Given the description of an element on the screen output the (x, y) to click on. 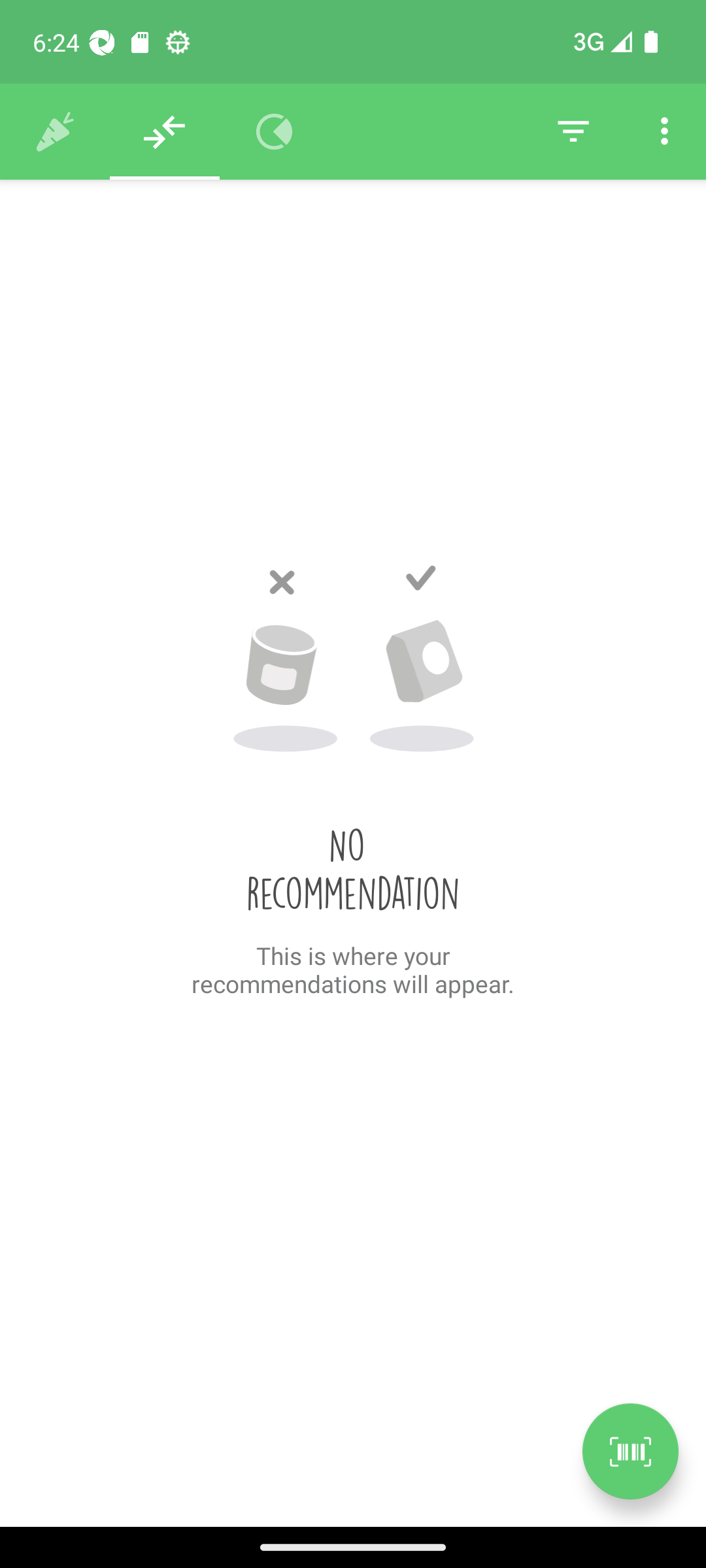
History (55, 131)
Overview (274, 131)
Filter (572, 131)
Settings (664, 131)
Scan a product (630, 1451)
